Given the description of an element on the screen output the (x, y) to click on. 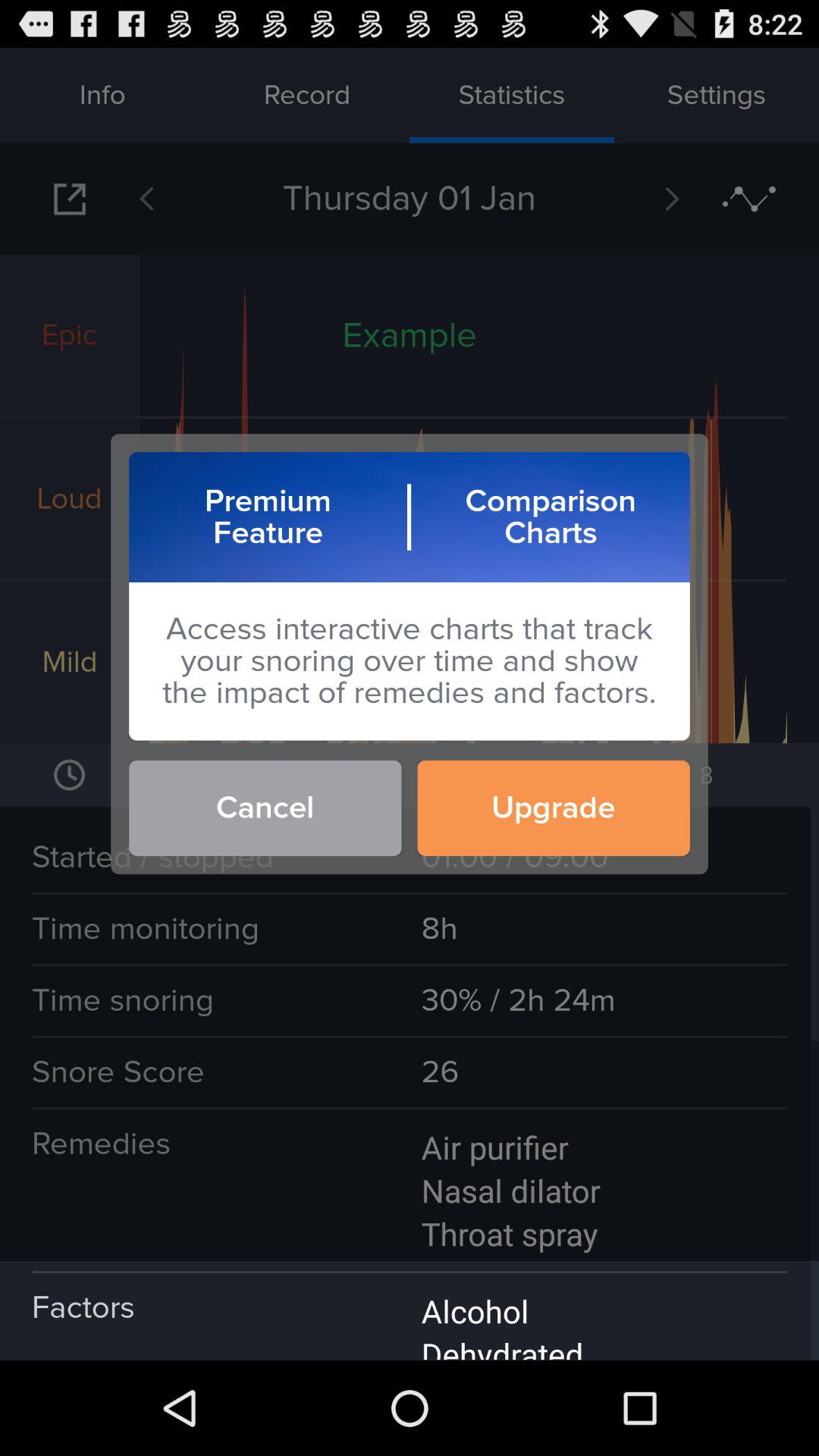
tap the button next to the cancel (553, 807)
